Given the description of an element on the screen output the (x, y) to click on. 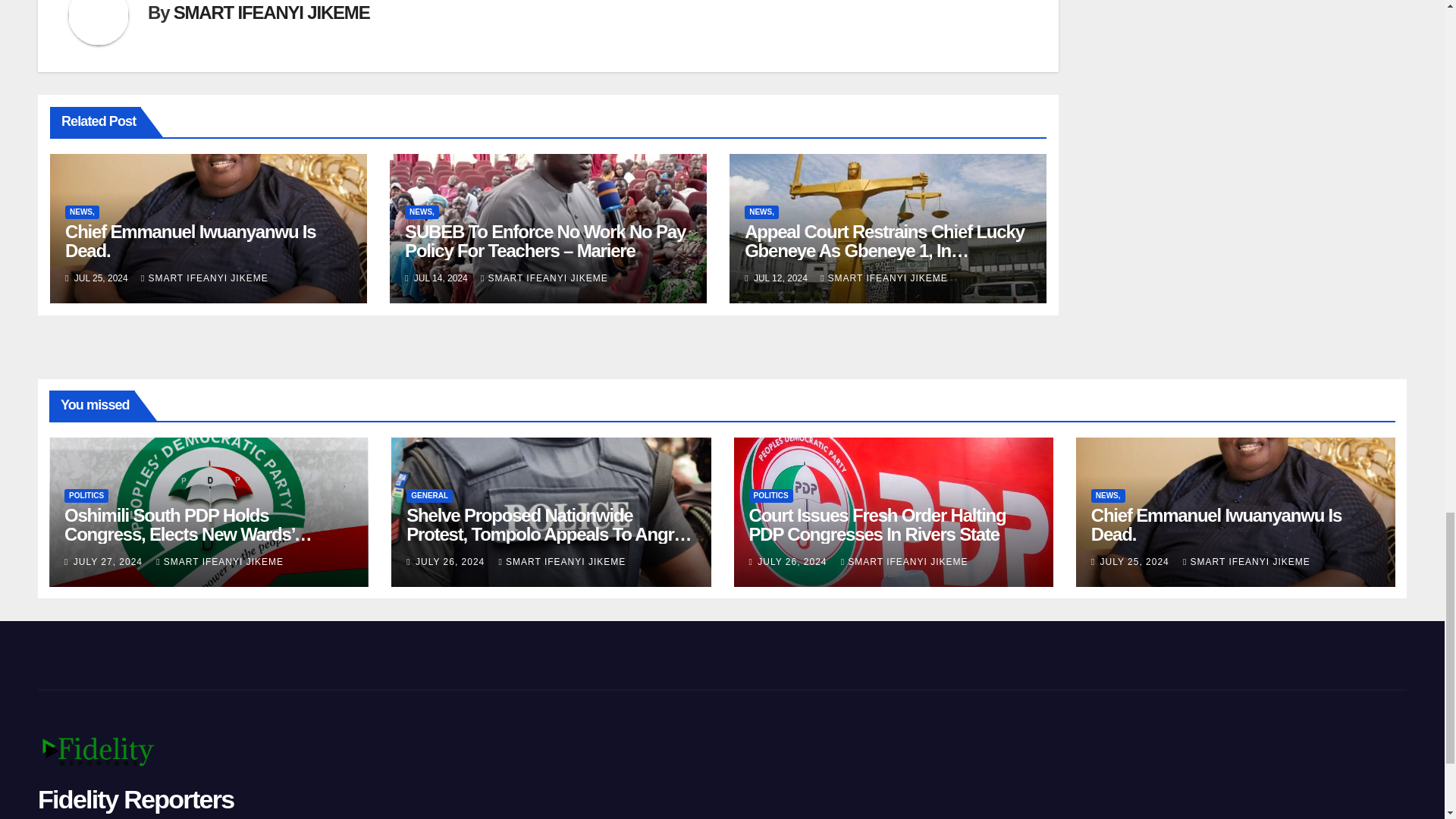
NEWS, (421, 212)
SMART IFEANYI JIKEME (204, 277)
NEWS, (82, 212)
SMART IFEANYI JIKEME (271, 12)
SMART IFEANYI JIKEME (884, 277)
NEWS, (761, 212)
POLITICS (85, 495)
Chief Emmanuel Iwuanyanwu Is Dead. (190, 241)
SMART IFEANYI JIKEME (544, 277)
